Given the description of an element on the screen output the (x, y) to click on. 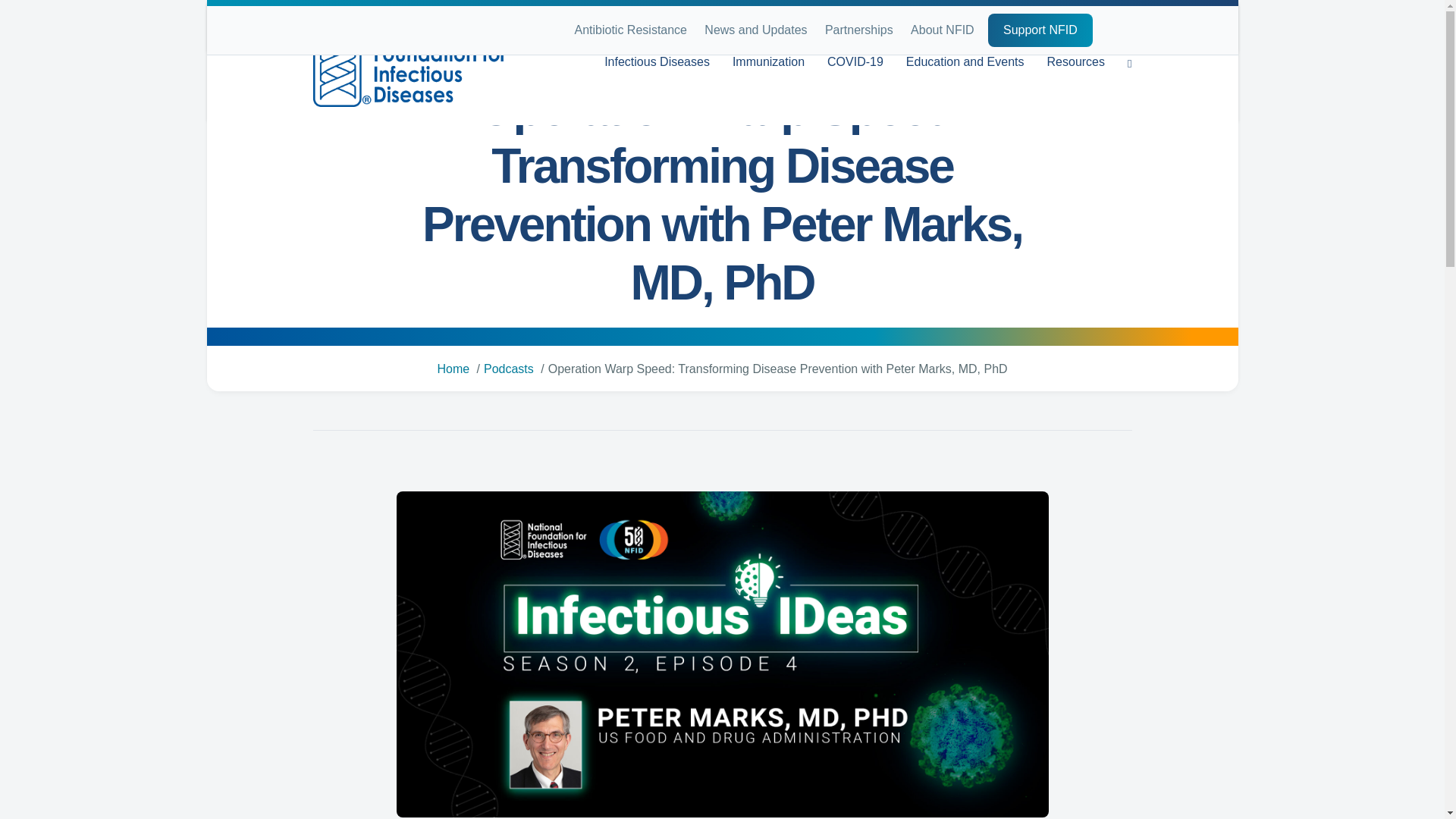
Support NFID (1040, 29)
Global Switch (1131, 32)
News and Updates (755, 30)
About NFID (941, 30)
Partnerships (858, 30)
Infectious Diseases (656, 61)
Antibiotic Resistance (631, 30)
